Given the description of an element on the screen output the (x, y) to click on. 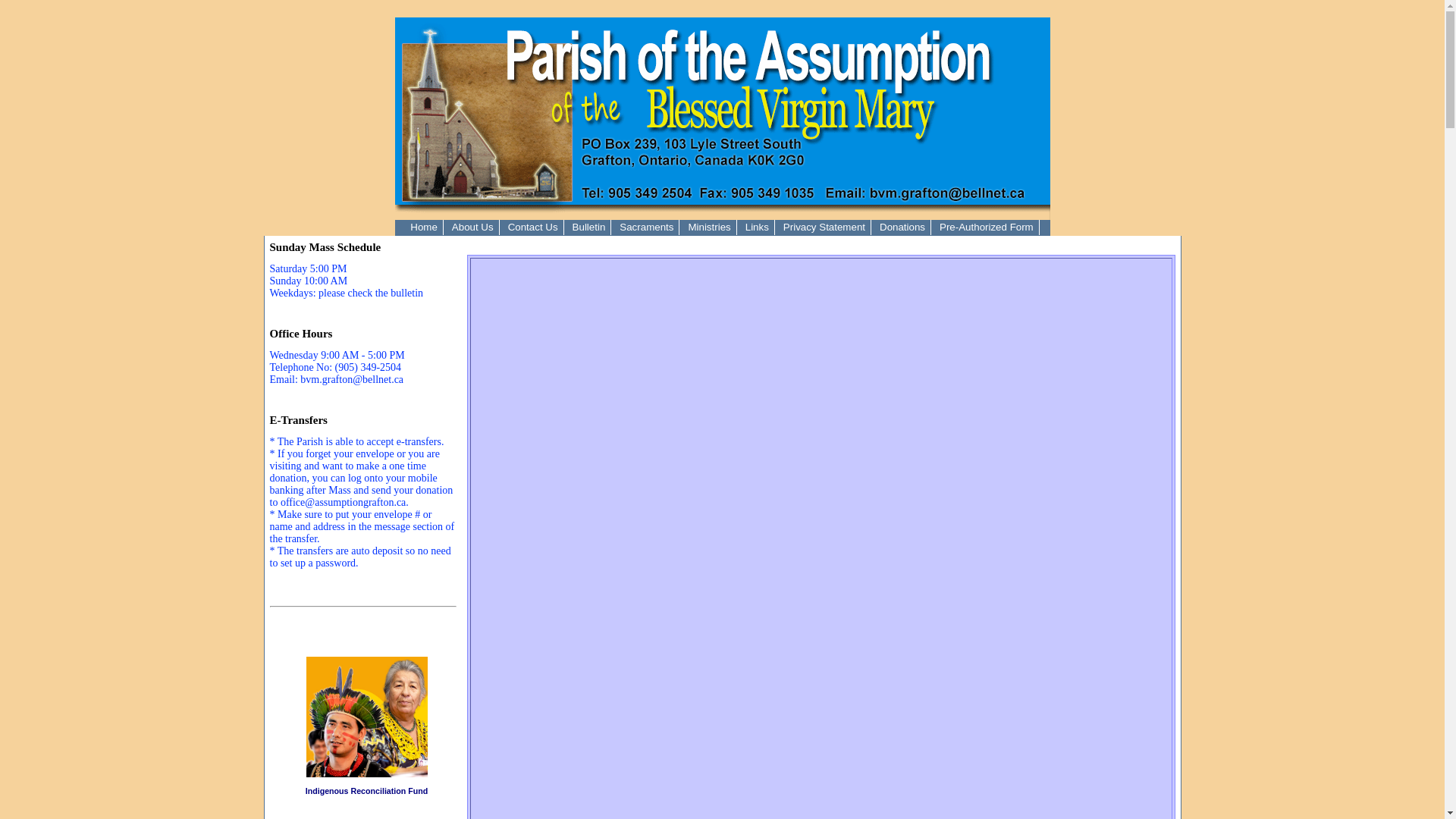
Contact Us Element type: text (533, 227)
Links Element type: text (757, 227)
Home Element type: text (423, 227)
Donations Element type: text (902, 227)
Sacraments Element type: text (646, 227)
Ministries Element type: text (709, 227)
Pre-Authorized Form Element type: text (986, 227)
Bulletin Element type: text (589, 227)
About Us Element type: text (472, 227)
Indigenous Reconciliation Fund Element type: text (366, 795)
Privacy Statement Element type: text (824, 227)
